Given the description of an element on the screen output the (x, y) to click on. 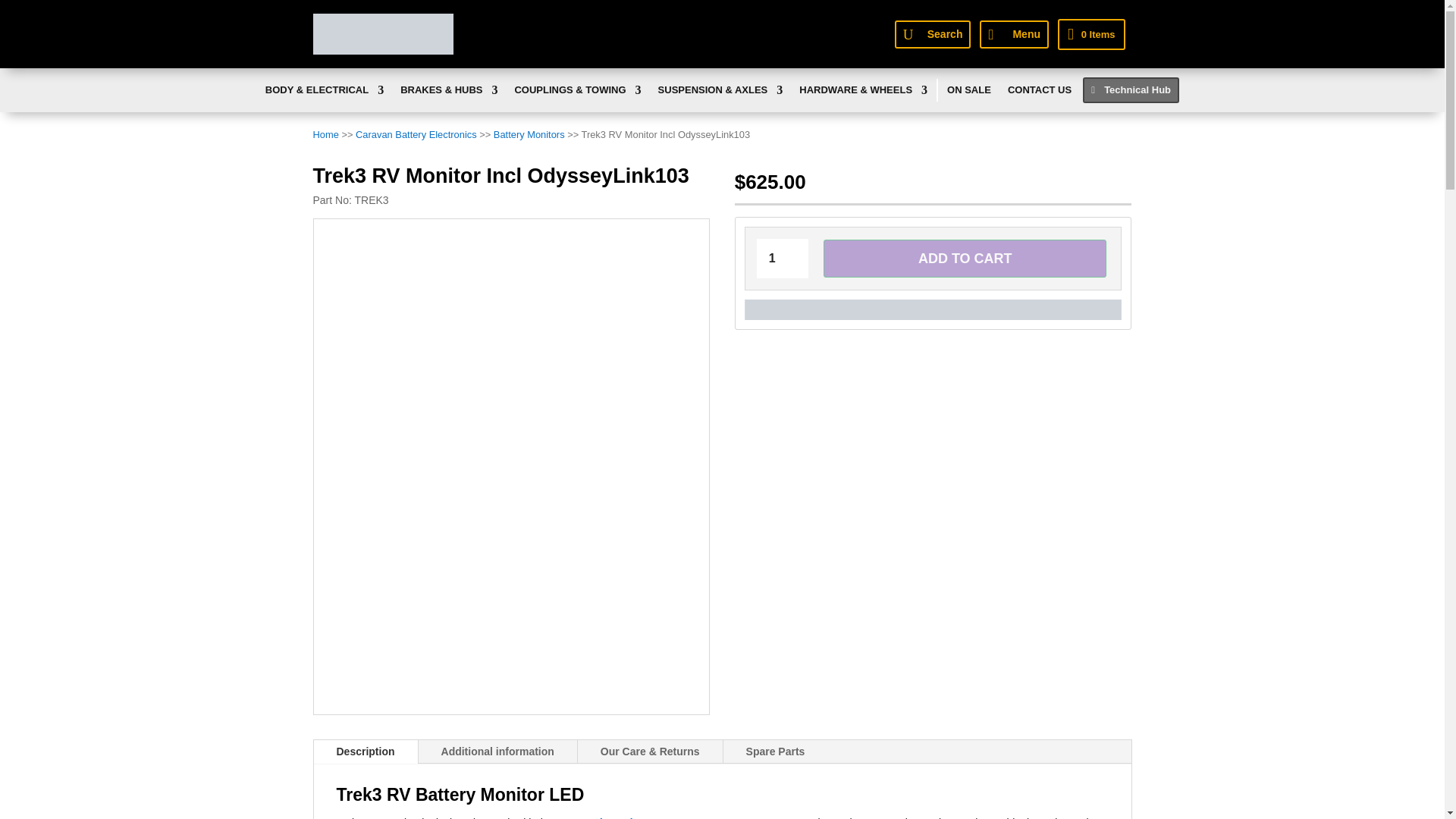
1 (783, 259)
desktop-payment-gateway-03 (933, 309)
cm-logo-Asset 29 (382, 33)
0 Items (1091, 33)
